Given the description of an element on the screen output the (x, y) to click on. 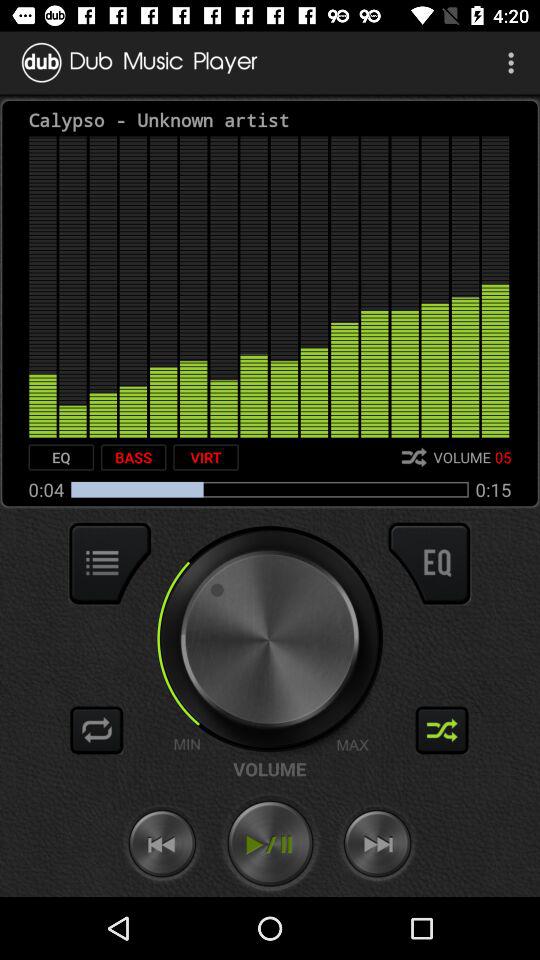
click the icon next to the   eq   item (133, 457)
